Given the description of an element on the screen output the (x, y) to click on. 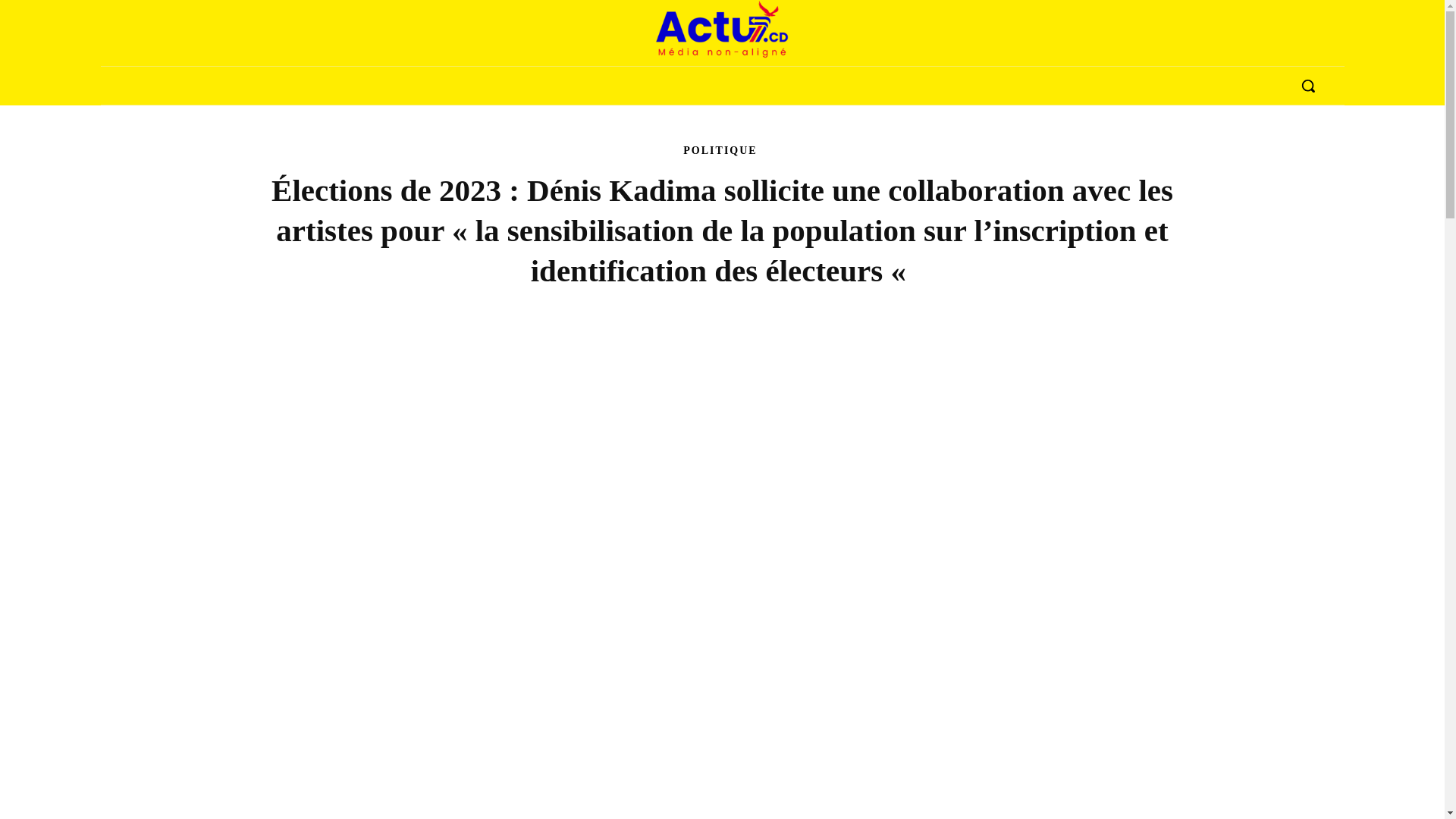
POLITIQUE Element type: text (719, 151)
